Given the description of an element on the screen output the (x, y) to click on. 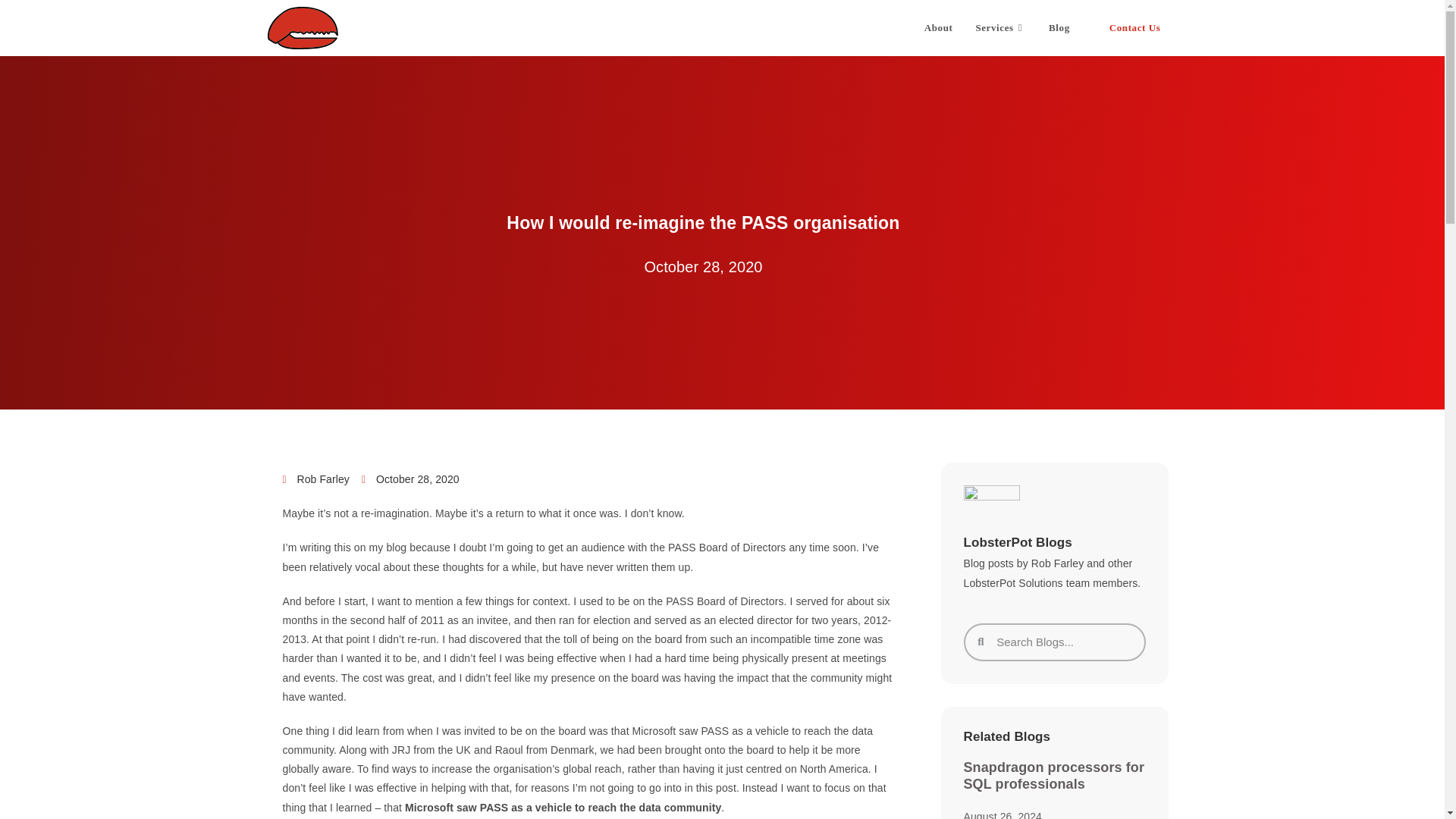
About (937, 28)
Services (999, 28)
October 28, 2020 (410, 479)
Snapdragon processors for SQL professionals (1053, 775)
Contact Us (1135, 28)
Rob Farley (315, 479)
